Given the description of an element on the screen output the (x, y) to click on. 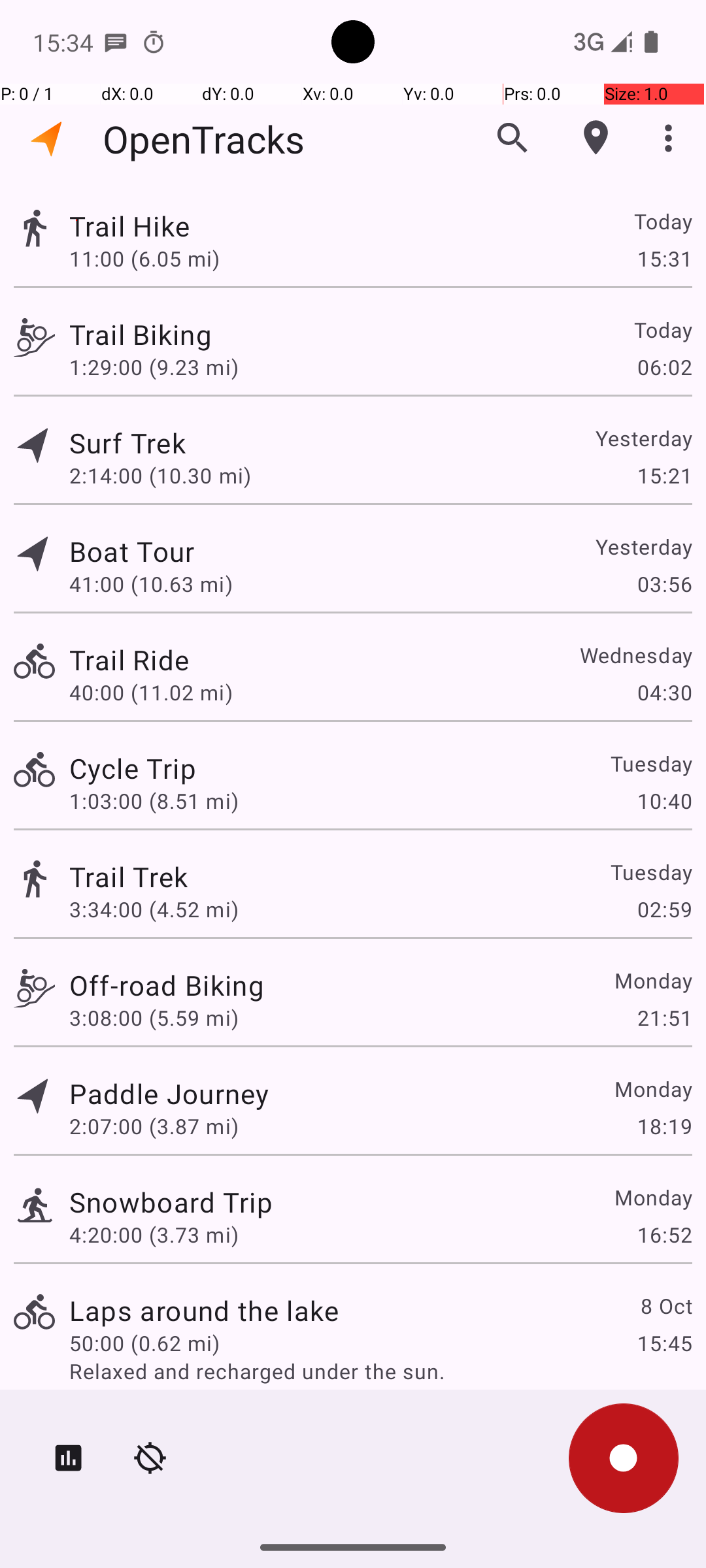
Trail Hike Element type: android.widget.TextView (129, 225)
11:00 (6.05 mi) Element type: android.widget.TextView (144, 258)
15:31 Element type: android.widget.TextView (664, 258)
Trail Biking Element type: android.widget.TextView (140, 333)
1:29:00 (9.23 mi) Element type: android.widget.TextView (153, 366)
06:02 Element type: android.widget.TextView (664, 366)
Surf Trek Element type: android.widget.TextView (127, 442)
2:14:00 (10.30 mi) Element type: android.widget.TextView (159, 475)
15:21 Element type: android.widget.TextView (664, 475)
Boat Tour Element type: android.widget.TextView (131, 550)
41:00 (10.63 mi) Element type: android.widget.TextView (150, 583)
03:56 Element type: android.widget.TextView (664, 583)
Trail Ride Element type: android.widget.TextView (128, 659)
40:00 (11.02 mi) Element type: android.widget.TextView (150, 692)
04:30 Element type: android.widget.TextView (664, 692)
1:03:00 (8.51 mi) Element type: android.widget.TextView (153, 800)
10:40 Element type: android.widget.TextView (664, 800)
Trail Trek Element type: android.widget.TextView (128, 876)
3:34:00 (4.52 mi) Element type: android.widget.TextView (153, 909)
02:59 Element type: android.widget.TextView (664, 909)
Off-road Biking Element type: android.widget.TextView (166, 984)
3:08:00 (5.59 mi) Element type: android.widget.TextView (153, 1017)
21:51 Element type: android.widget.TextView (664, 1017)
Paddle Journey Element type: android.widget.TextView (168, 1092)
2:07:00 (3.87 mi) Element type: android.widget.TextView (153, 1125)
18:19 Element type: android.widget.TextView (664, 1125)
Snowboard Trip Element type: android.widget.TextView (170, 1201)
4:20:00 (3.73 mi) Element type: android.widget.TextView (153, 1234)
16:52 Element type: android.widget.TextView (664, 1234)
Laps around the lake Element type: android.widget.TextView (203, 1309)
50:00 (0.62 mi) Element type: android.widget.TextView (144, 1342)
15:45 Element type: android.widget.TextView (664, 1342)
Relaxed and recharged under the sun. Element type: android.widget.TextView (380, 1370)
